Given the description of an element on the screen output the (x, y) to click on. 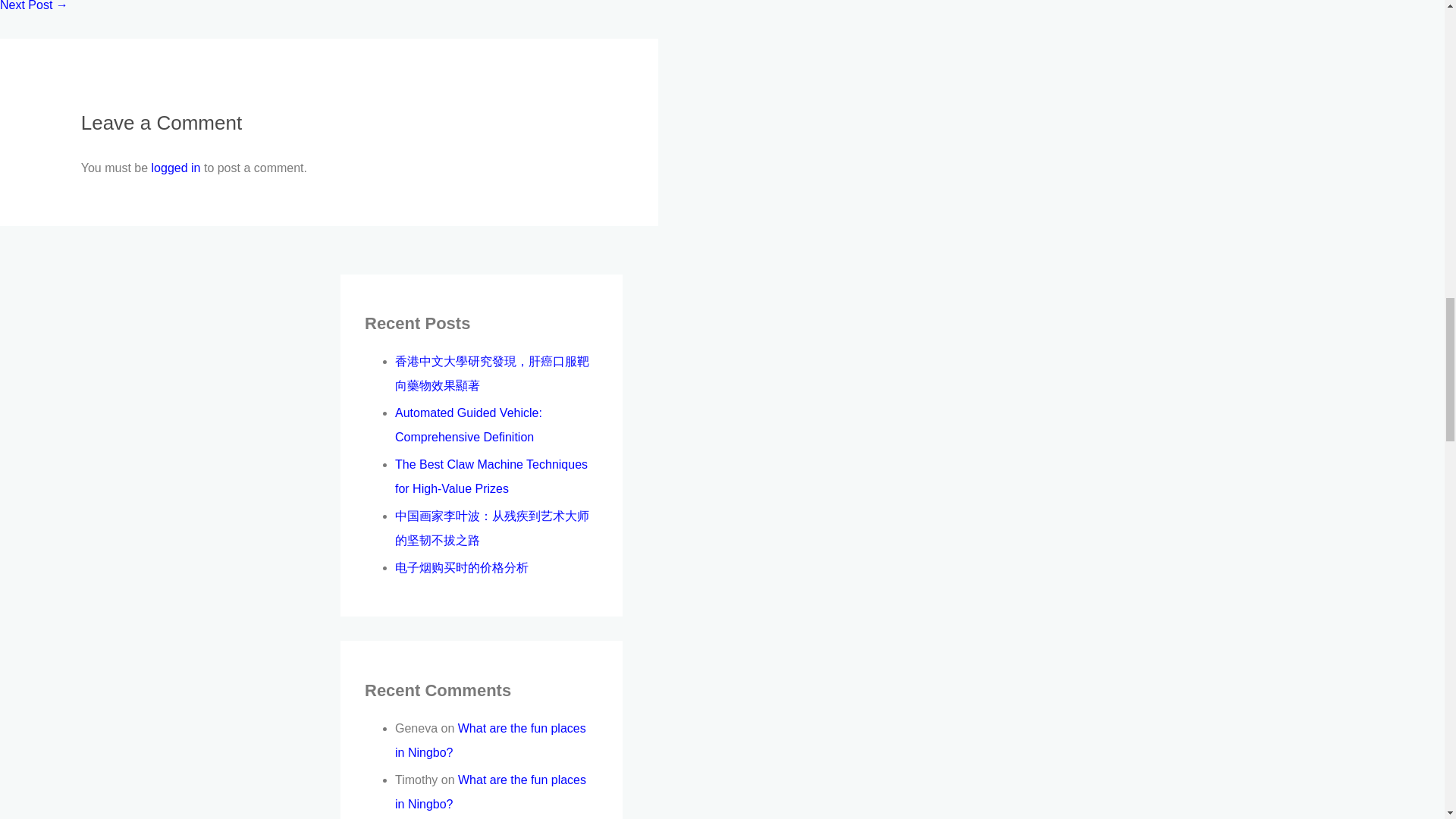
Automated Guided Vehicle: Comprehensive Definition (467, 424)
What are the fun places in Ningbo? (490, 740)
The Best Claw Machine Techniques for High-Value Prizes (491, 476)
logged in (175, 167)
What are the fun places in Ningbo? (490, 791)
